Given the description of an element on the screen output the (x, y) to click on. 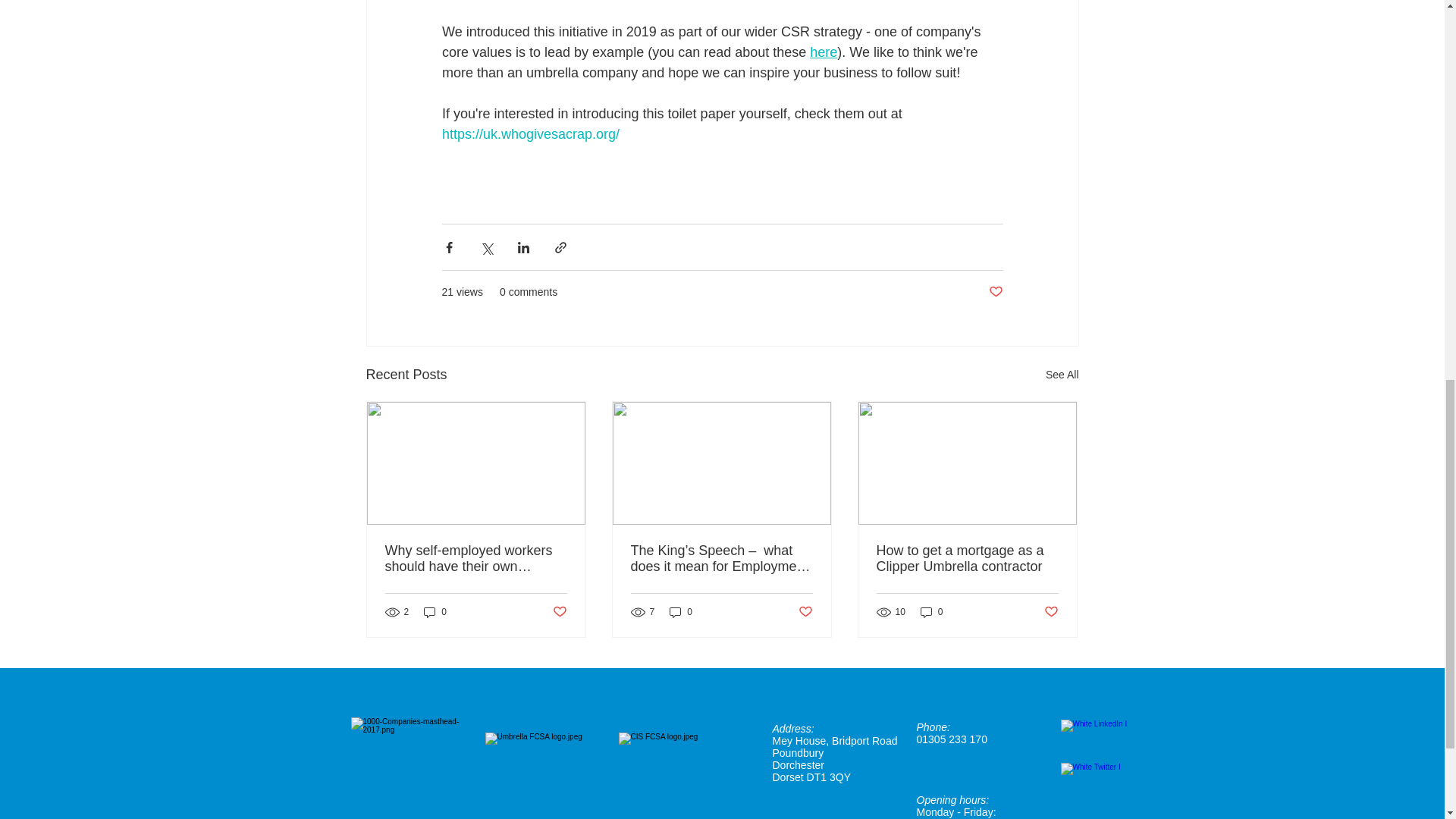
0 (435, 612)
Why self-employed workers should have their own insurance (476, 558)
See All (1061, 374)
here (823, 52)
Post not marked as liked (995, 292)
Post not marked as liked (558, 611)
